Given the description of an element on the screen output the (x, y) to click on. 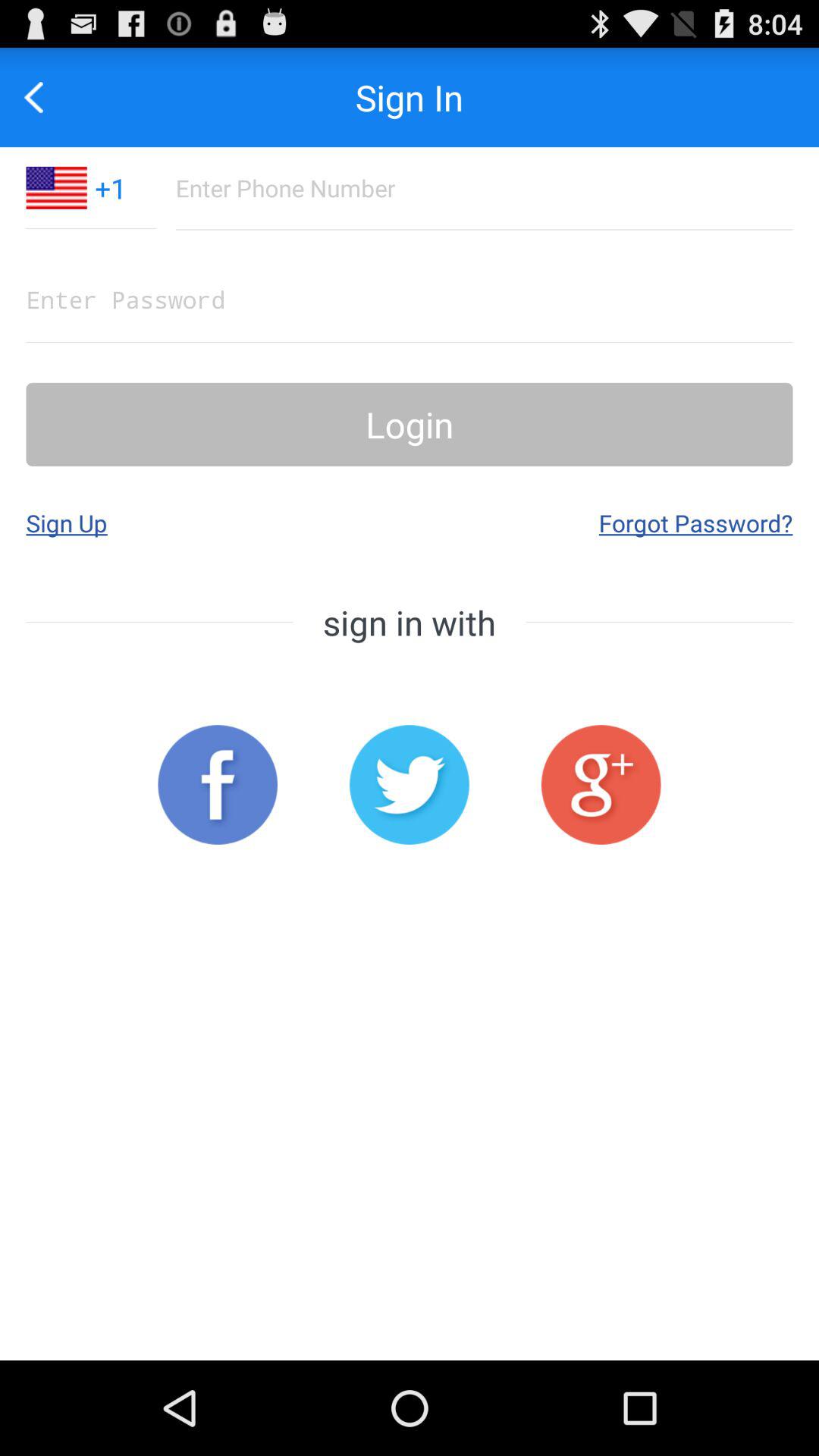
turn on the app next to sign up app (695, 522)
